Given the description of an element on the screen output the (x, y) to click on. 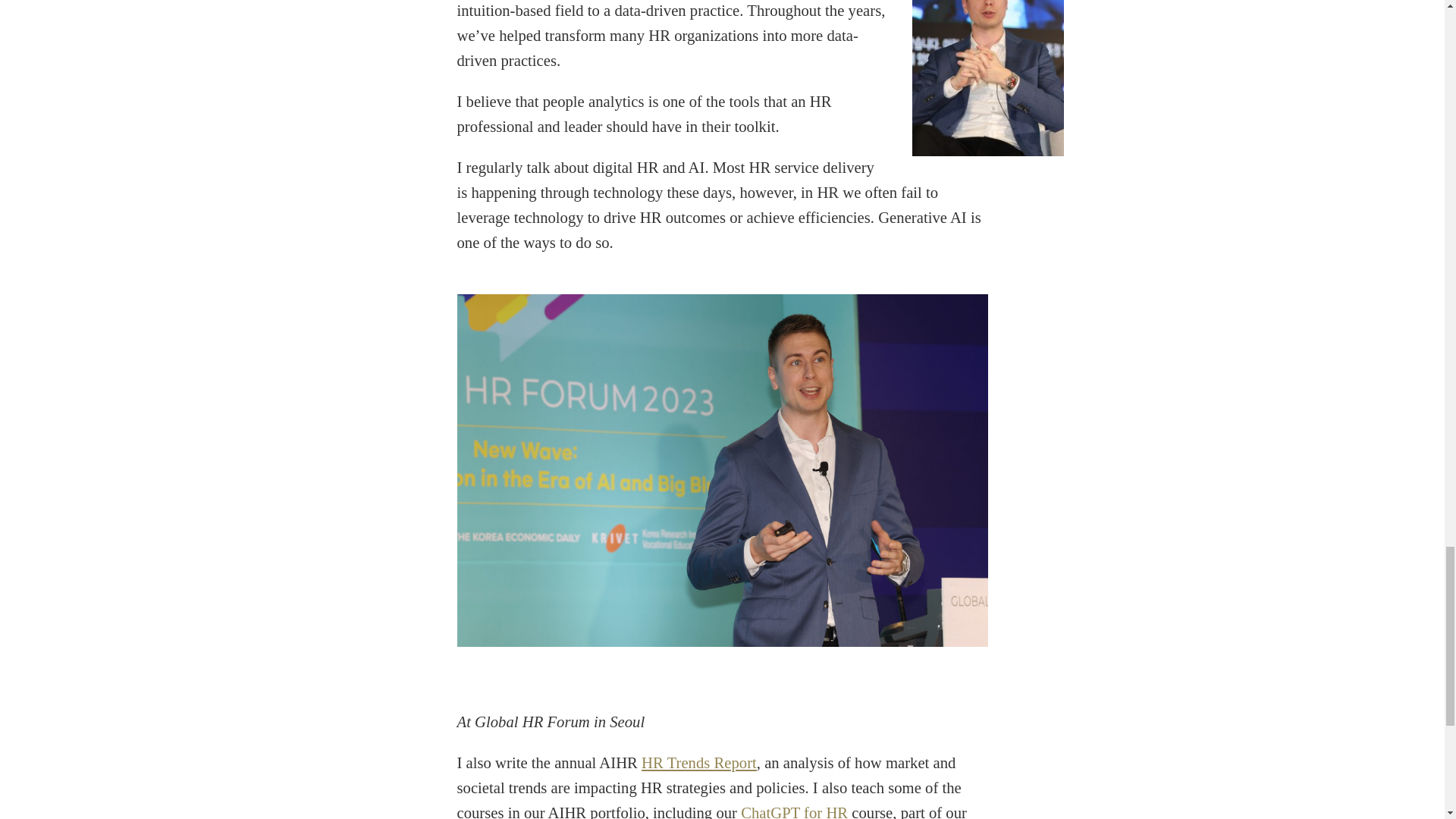
ChatGPT for HR (794, 811)
HR Trends Report (699, 762)
